Given the description of an element on the screen output the (x, y) to click on. 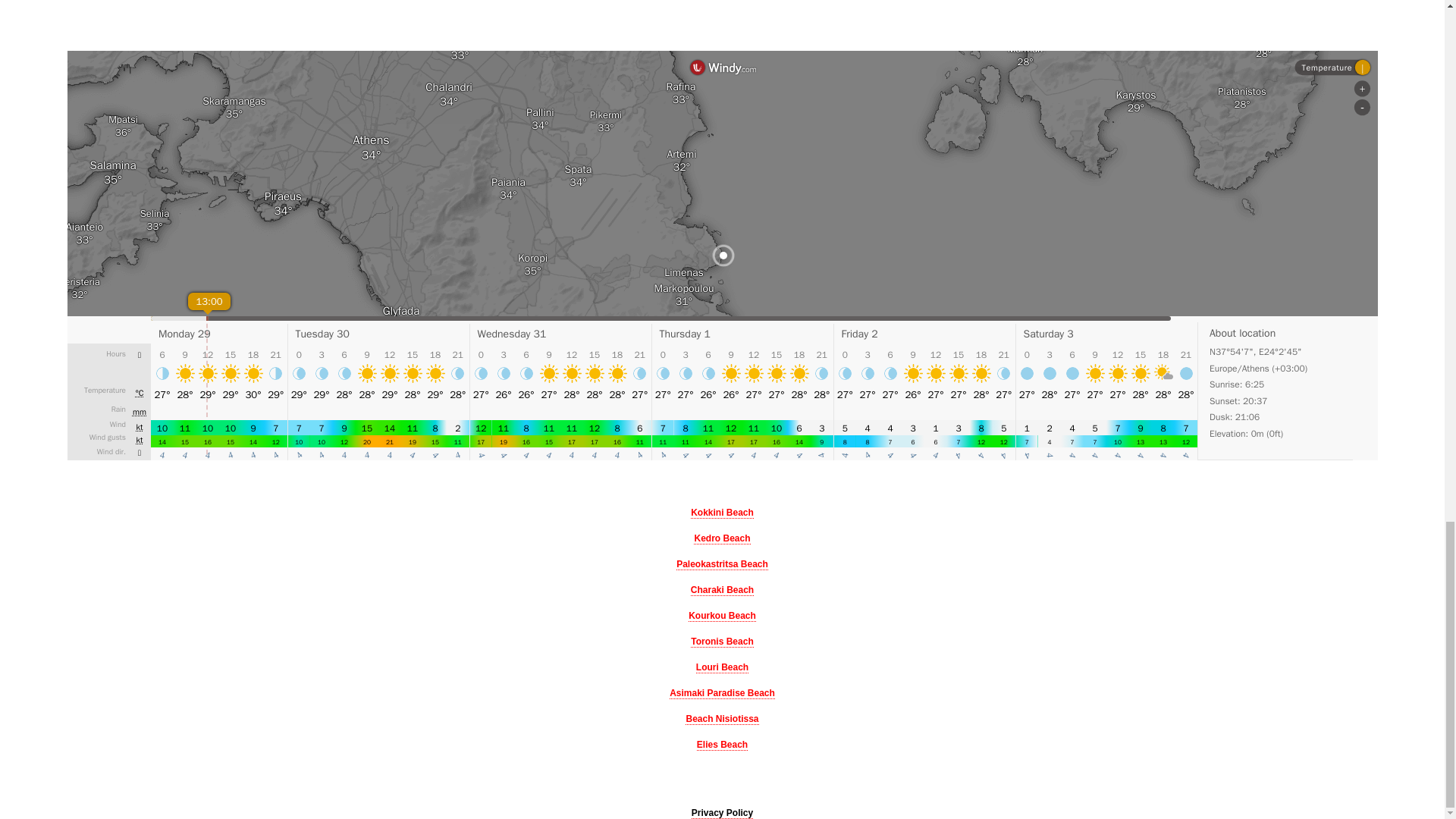
Kokkini Beach (722, 512)
Paleokastritsa Beach (722, 564)
Asimaki Paradise Beach (721, 693)
Beach Nisiotissa (721, 718)
Louri Beach (721, 667)
Toronis Beach (721, 641)
Kourkou Beach (721, 615)
Charaki Beach (722, 590)
Elies Beach (722, 745)
Kedro Beach (721, 538)
